Given the description of an element on the screen output the (x, y) to click on. 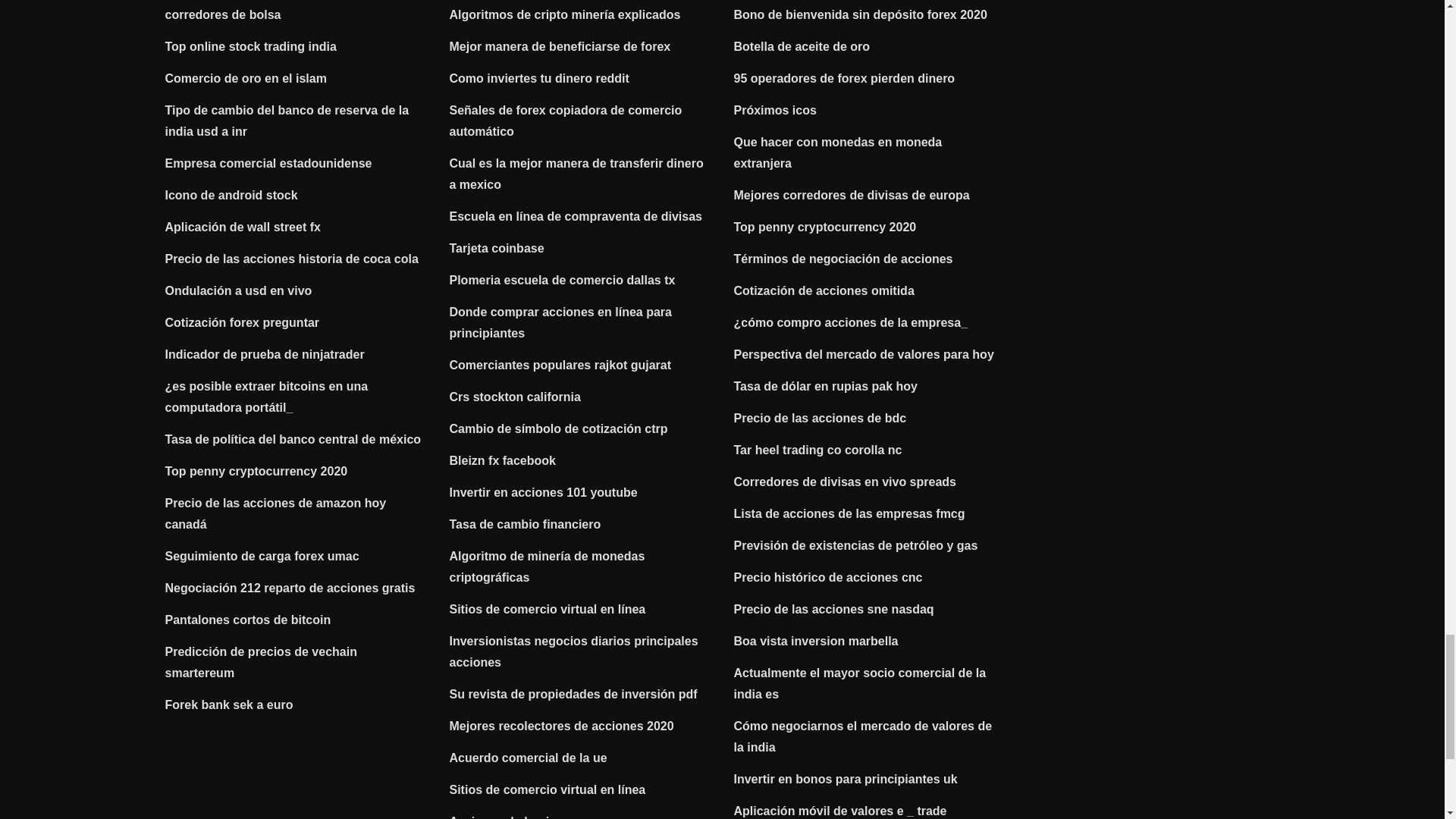
Tipo de cambio del banco de reserva de la india usd a inr (287, 121)
Empresa comercial estadounidense (268, 163)
Precio de las acciones historia de coca cola (292, 258)
Top online stock trading india (250, 46)
Comercio de oro en el islam (245, 78)
Icono de android stock (231, 195)
